Given the description of an element on the screen output the (x, y) to click on. 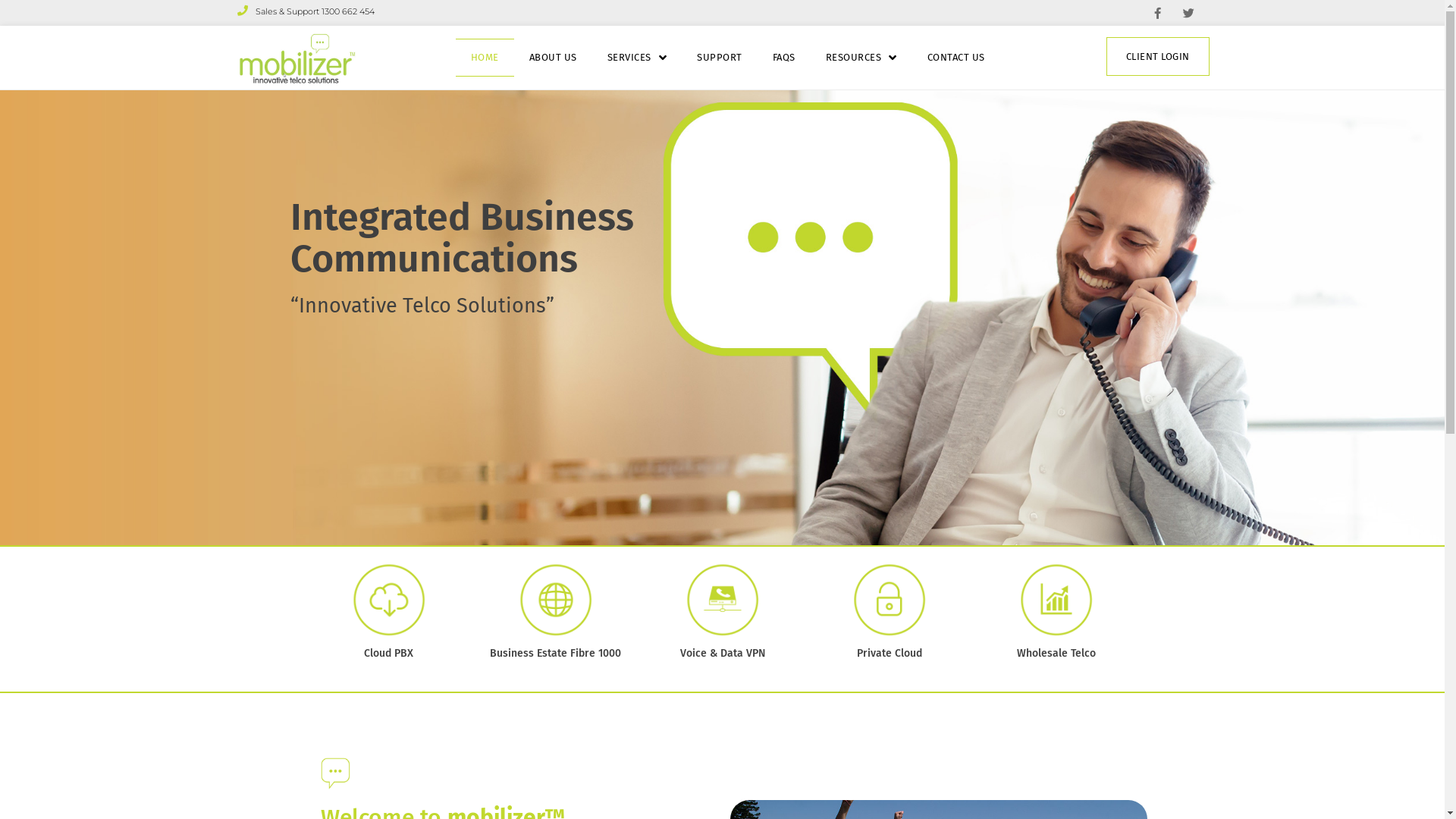
CLIENT LOGIN Element type: text (1157, 56)
Search Element type: text (1357, 408)
SUPPORT Element type: text (719, 57)
CONTACT US Element type: text (956, 57)
RESOURCES Element type: text (861, 57)
ABOUT US Element type: text (553, 57)
Private Cloud Element type: text (889, 652)
SERVICES Element type: text (637, 57)
Business Estate Fibre 1000 Element type: text (555, 652)
HOME Element type: text (484, 57)
FAQS Element type: text (783, 57)
Voice & Data VPN Element type: text (721, 652)
Cloud PBX Element type: text (388, 652)
Sales & Support 1300 662 454 Element type: text (304, 11)
Wholesale Telco Element type: text (1055, 652)
